Given the description of an element on the screen output the (x, y) to click on. 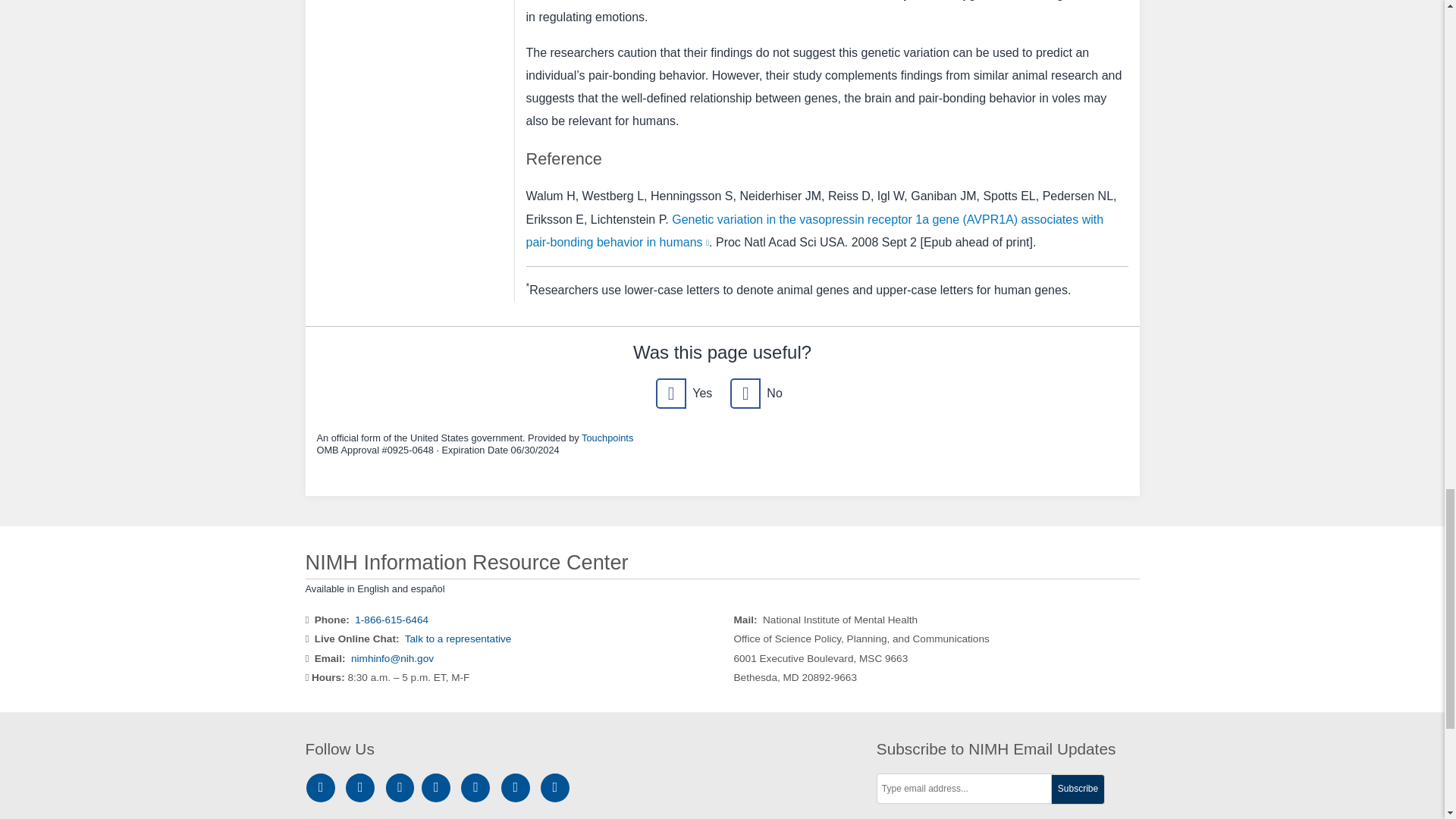
NIMH YouTube (478, 787)
NIMH Facebook (363, 787)
NIMH News Feeds (555, 787)
NIMH Twitter (438, 787)
No (745, 393)
NIMH LinkedIn (402, 787)
Yes (670, 393)
NIMH Instagram (322, 787)
Subscribe (1078, 788)
NIMH Newsletters (515, 787)
